Given the description of an element on the screen output the (x, y) to click on. 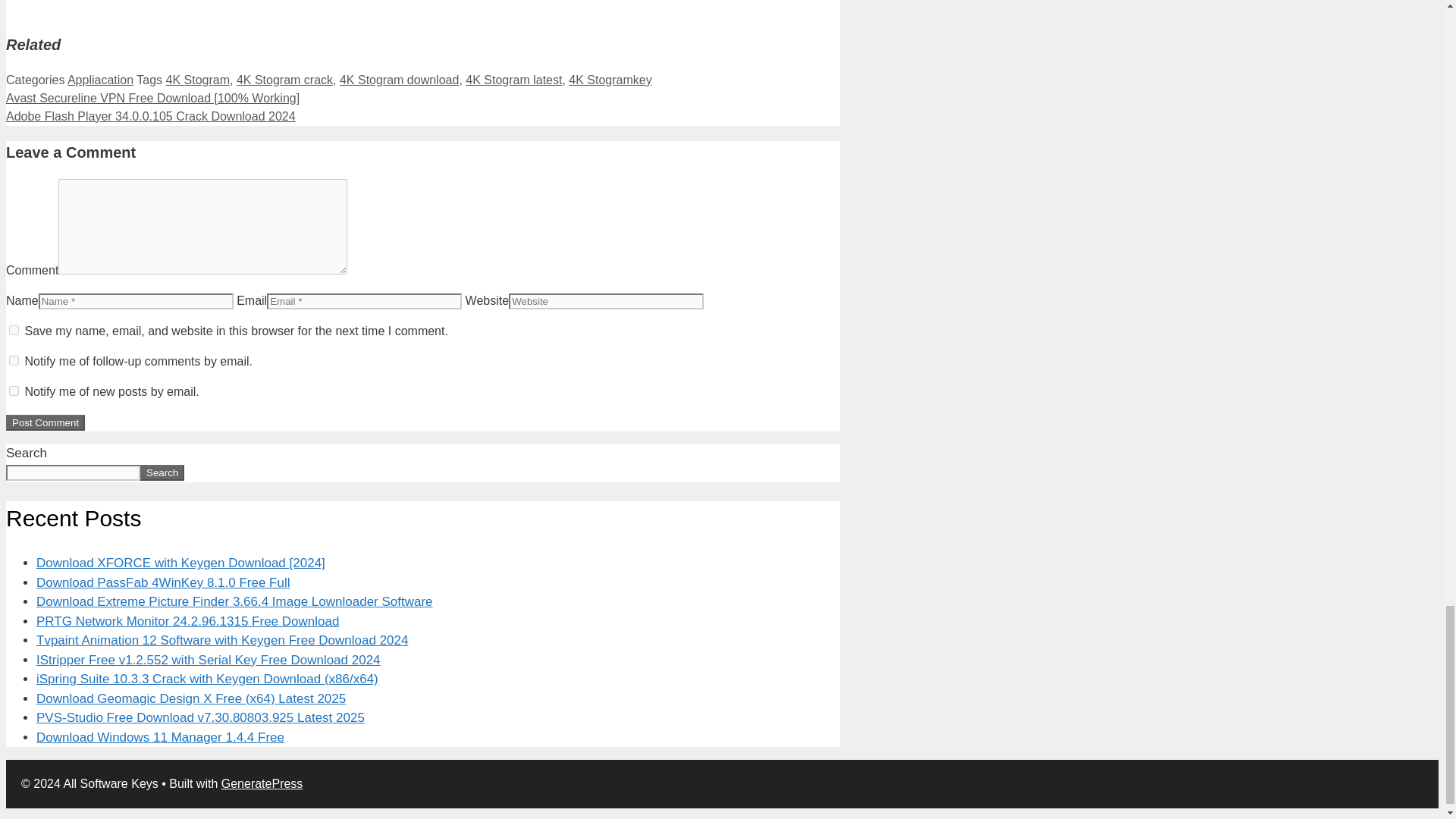
yes (13, 329)
4K Stogram crack (284, 79)
4K Stogram download (398, 79)
Post Comment (44, 422)
Appliacation (99, 79)
4K Stogram latest (513, 79)
subscribe (13, 360)
4K Stogram (197, 79)
subscribe (13, 390)
